Given the description of an element on the screen output the (x, y) to click on. 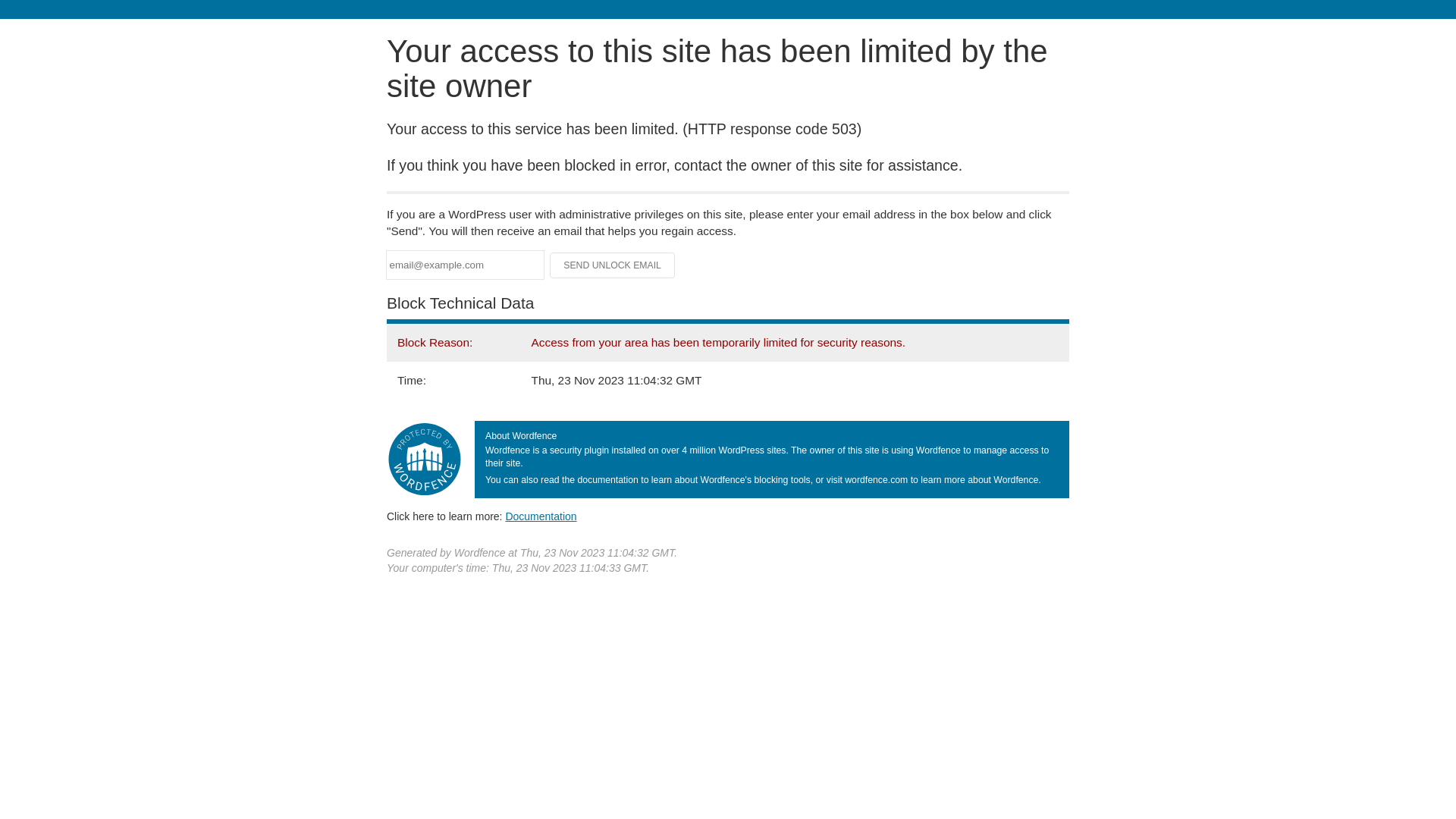
Documentation Element type: text (540, 516)
Send Unlock Email Element type: text (612, 265)
